Given the description of an element on the screen output the (x, y) to click on. 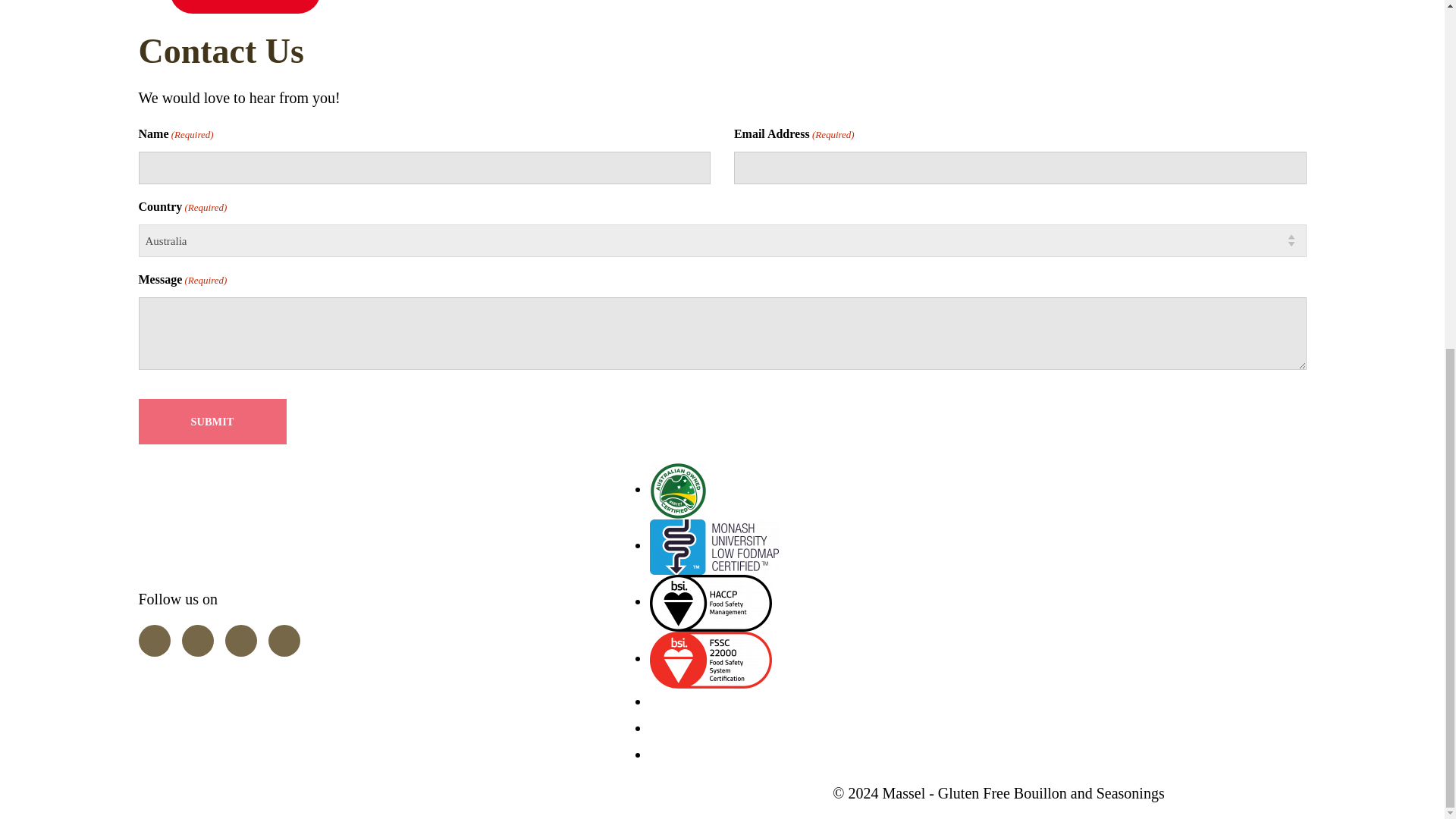
Submit (211, 421)
PRODUCT ENQUIRY (245, 6)
YouTube (240, 640)
PRODUCT ENQUIRY (245, 6)
Email us (283, 640)
Submit (211, 421)
Instagram (198, 640)
Facebook (154, 640)
